Given the description of an element on the screen output the (x, y) to click on. 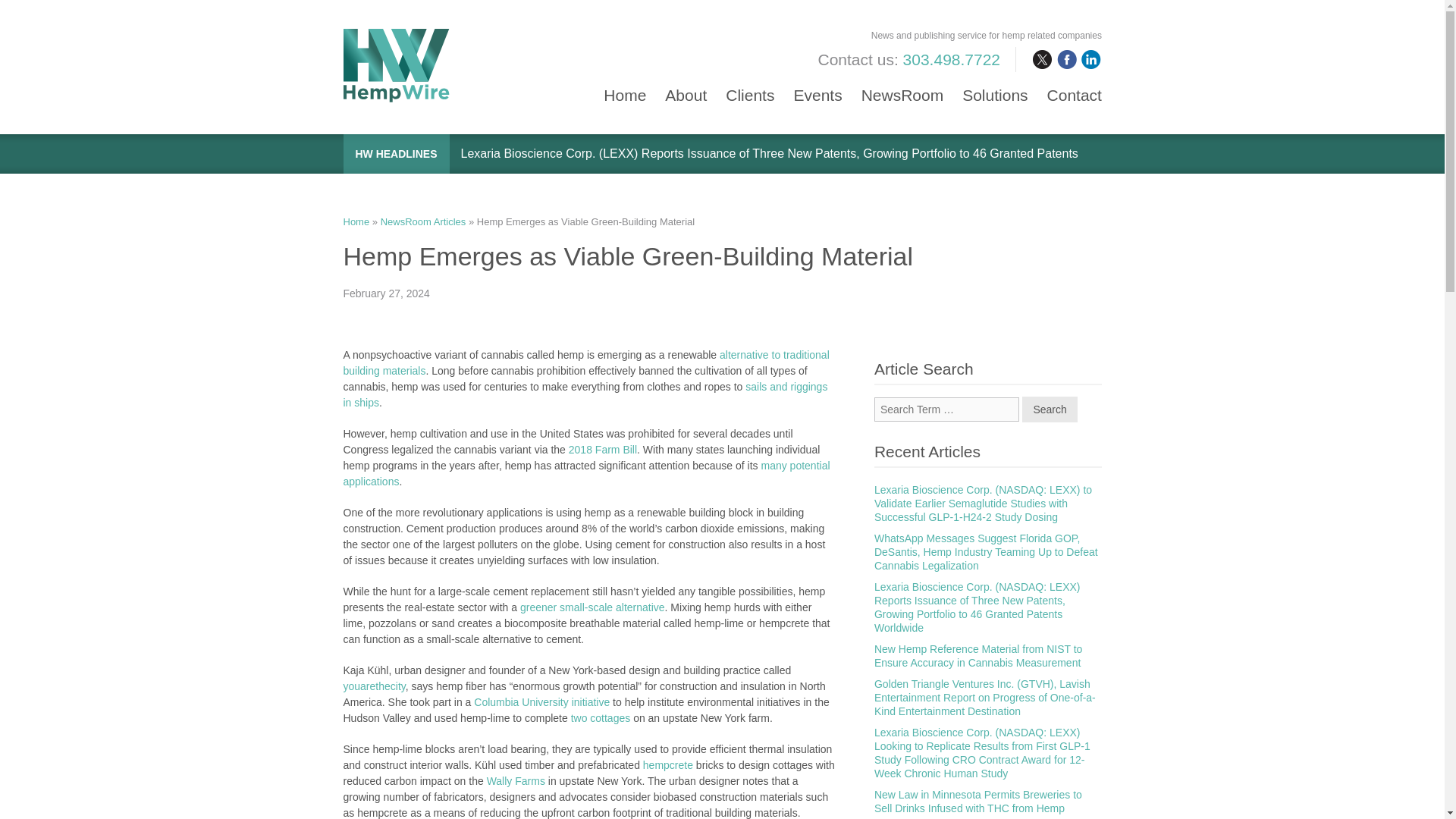
Solutions (994, 87)
NewsRoom Articles (422, 221)
Wally Farms (515, 780)
alternative to traditional building materials (585, 362)
two cottages (601, 717)
Clients (749, 87)
facebook (1067, 59)
twitter (1041, 59)
2018 Farm Bill (603, 449)
many potential applications (585, 473)
About (685, 87)
HW HEADLINES (395, 153)
sails and riggings in ships (584, 394)
Home (355, 221)
hempcrete (668, 765)
